Given the description of an element on the screen output the (x, y) to click on. 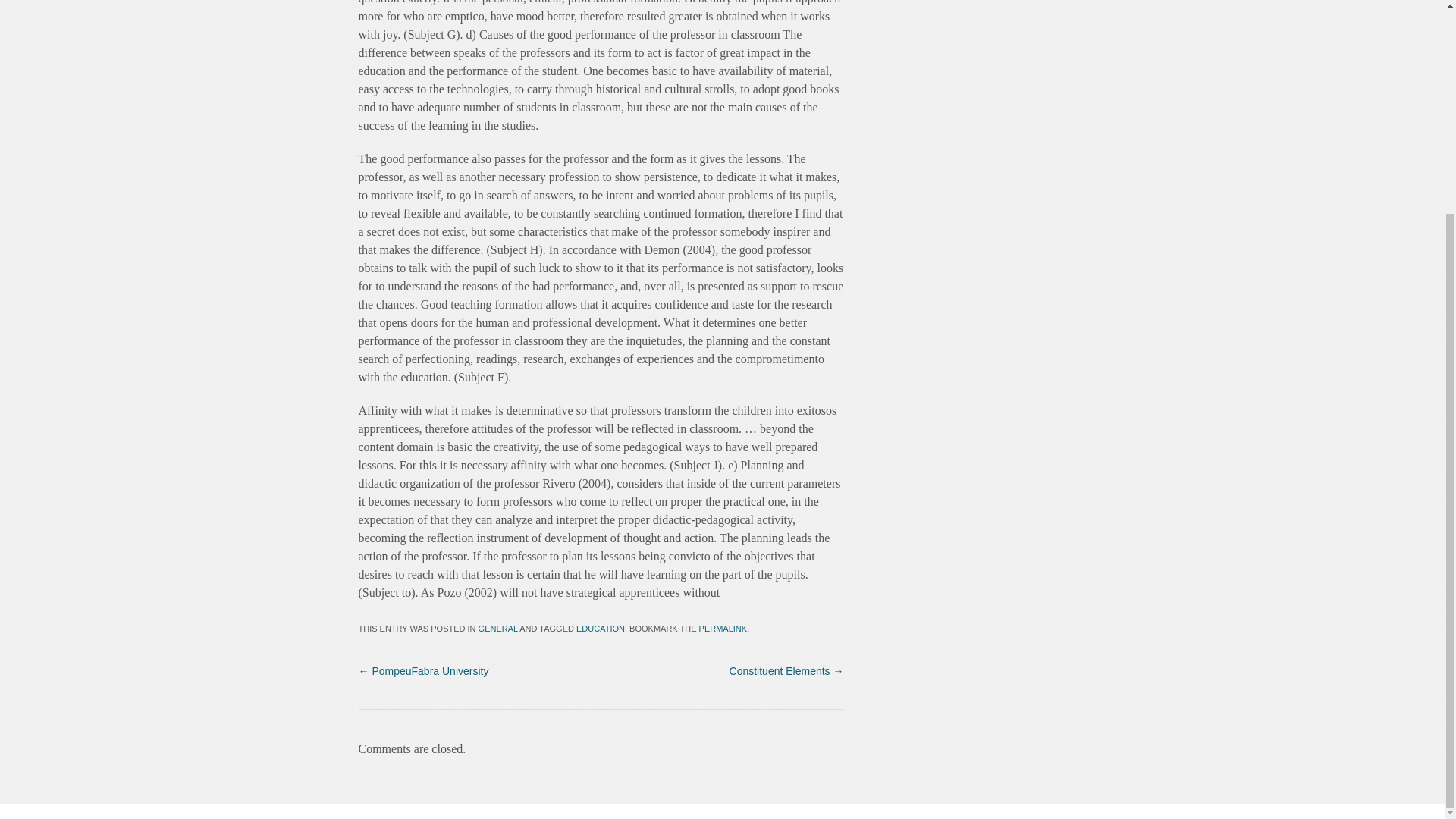
EDUCATION (600, 628)
PERMALINK (723, 628)
GENERAL (498, 628)
Permalink to Affinity Classroom (723, 628)
